Given the description of an element on the screen output the (x, y) to click on. 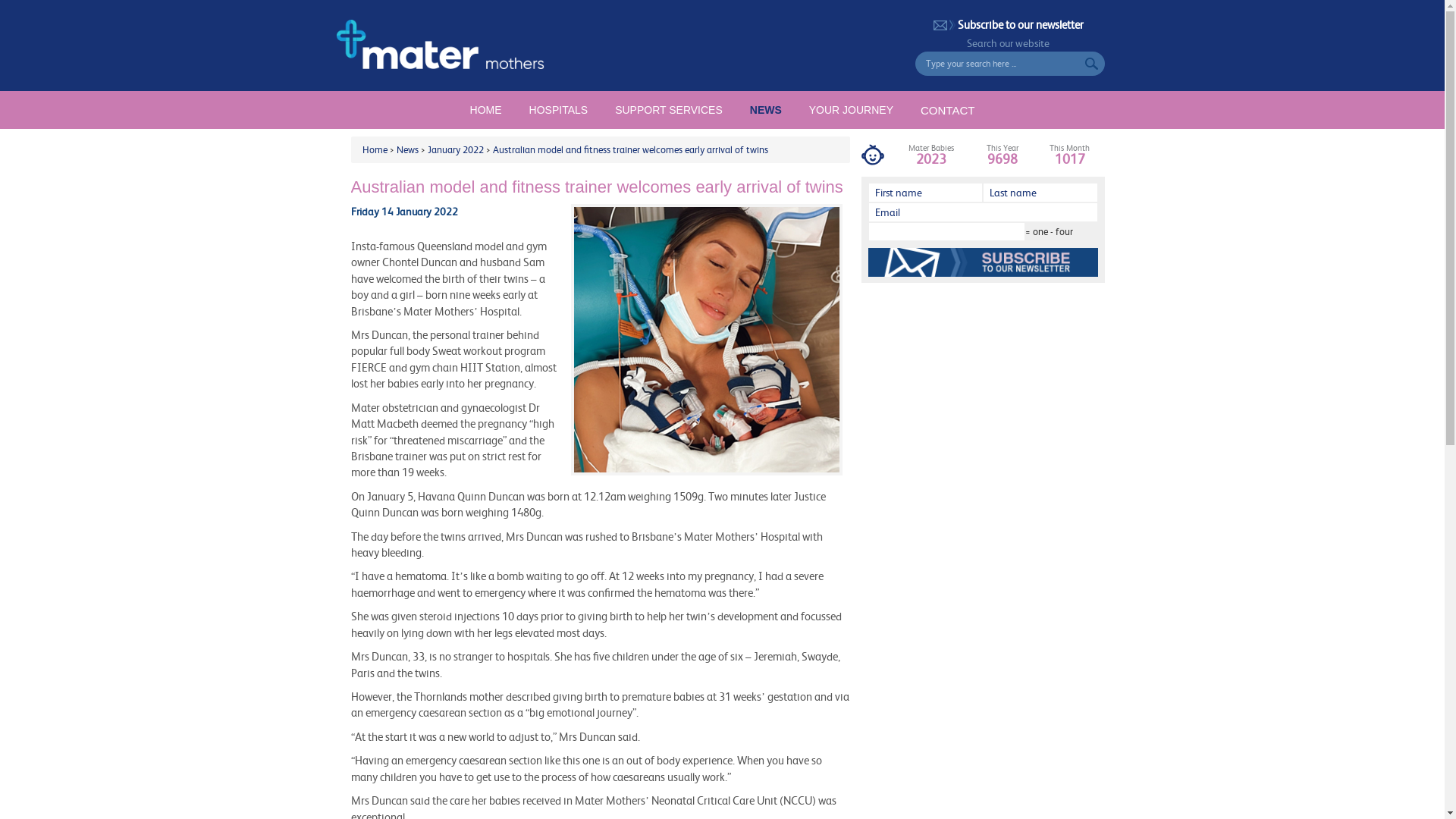
SUPPORT SERVICES Element type: text (668, 109)
HOME Element type: text (486, 109)
CONTACT Element type: text (947, 110)
HOSPITALS Element type: text (558, 109)
Home Element type: text (374, 149)
NEWS Element type: text (765, 109)
Subscribe to our newsletter Element type: text (1008, 24)
Search Element type: text (1094, 63)
Subscribe Element type: hover (983, 261)
YOUR JOURNEY Element type: text (851, 109)
News Element type: text (406, 149)
January 2022 Element type: text (455, 149)
